Given the description of an element on the screen output the (x, y) to click on. 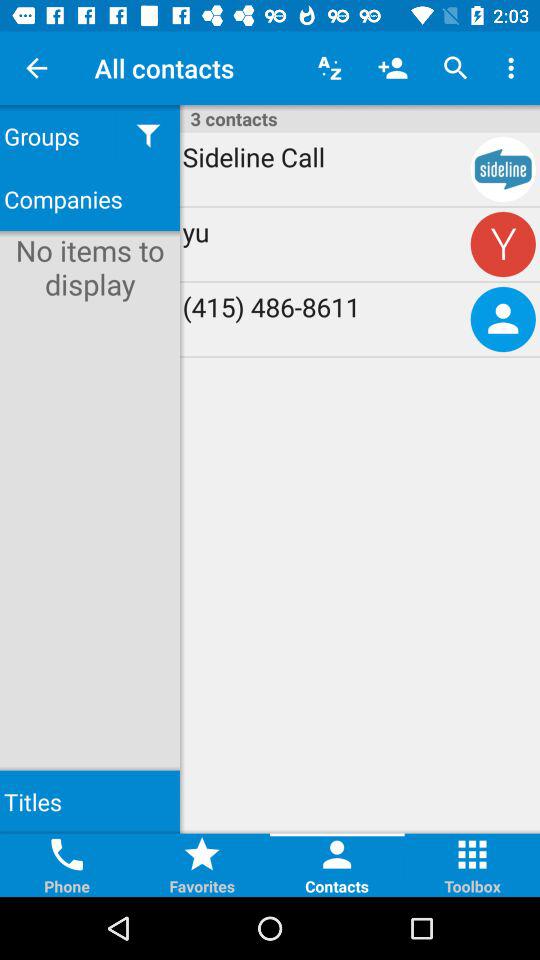
turn on the titles (90, 801)
